Given the description of an element on the screen output the (x, y) to click on. 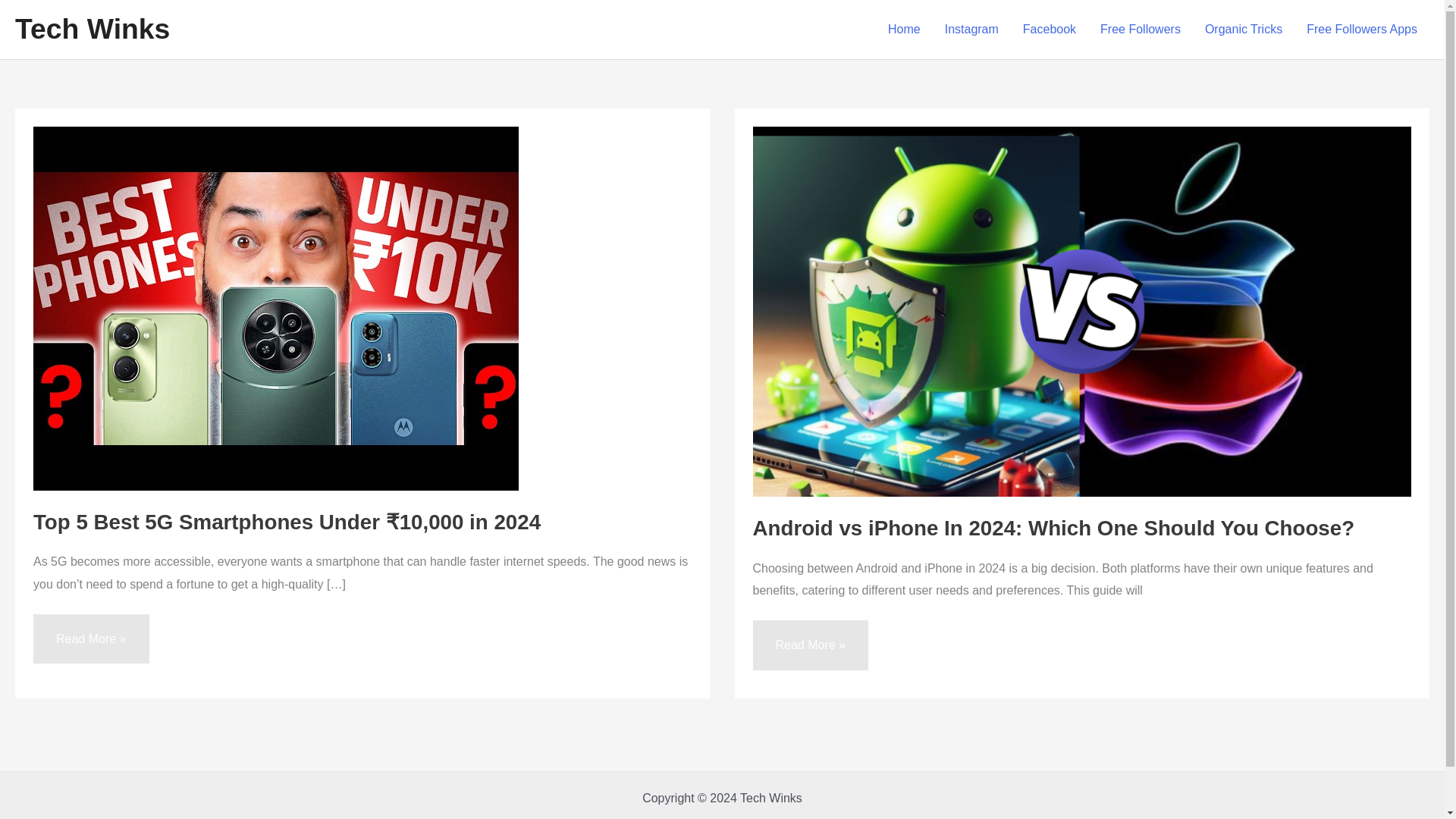
Instagram (971, 29)
Facebook (1048, 29)
Free Followers (1139, 29)
Free Followers Apps (1361, 29)
Tech Winks (92, 29)
Android vs iPhone In 2024: Which One Should You Choose? (1053, 527)
Organic Tricks (1243, 29)
Home (904, 29)
